Given the description of an element on the screen output the (x, y) to click on. 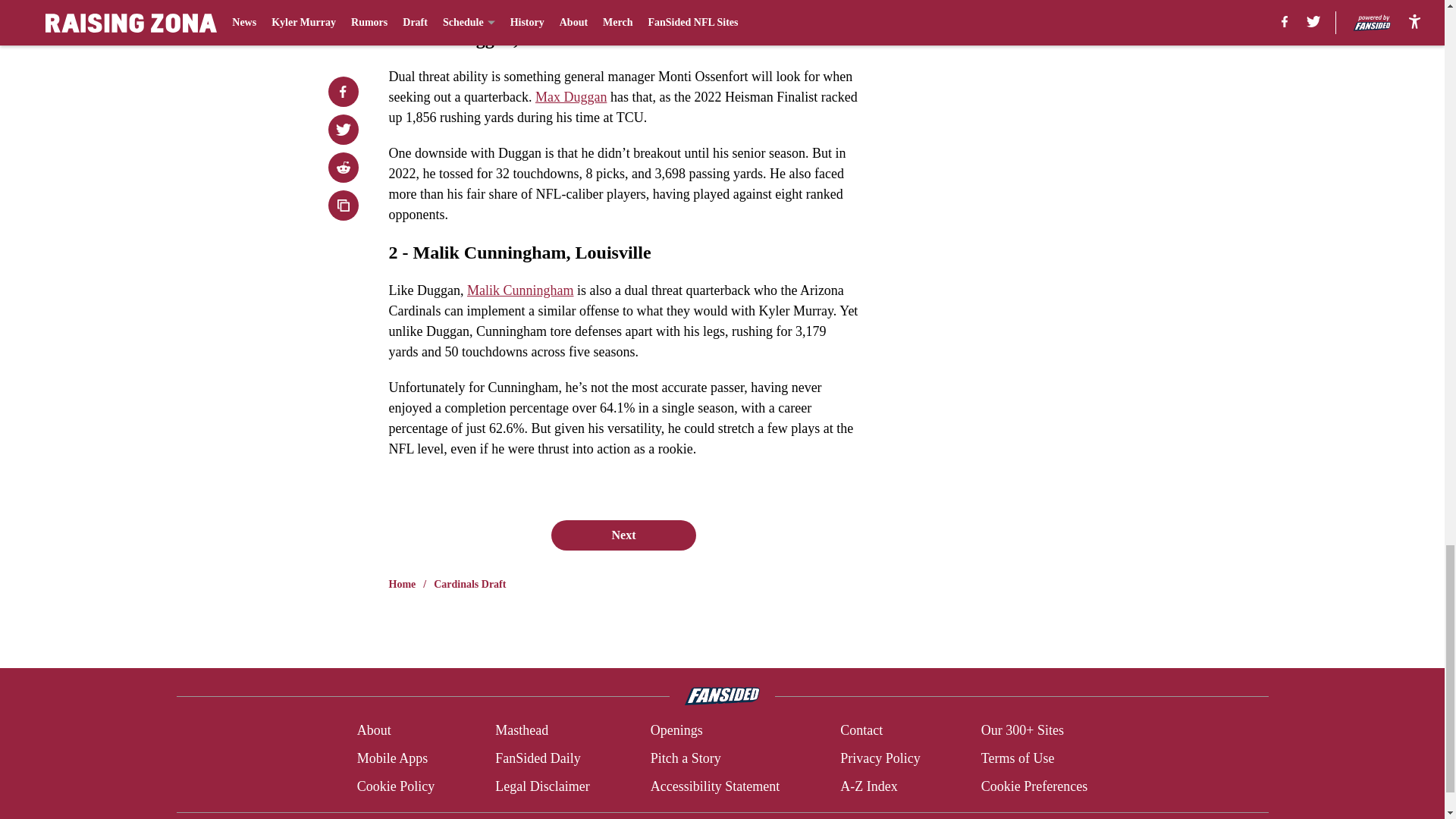
Masthead (521, 730)
Next (622, 535)
Home (401, 584)
Cardinals Draft (469, 584)
Pitch a Story (685, 758)
Openings (676, 730)
Privacy Policy (880, 758)
Mobile Apps (392, 758)
Malik Cunningham (520, 290)
FanSided Daily (537, 758)
Max Duggan (571, 96)
About (373, 730)
Contact (861, 730)
